Given the description of an element on the screen output the (x, y) to click on. 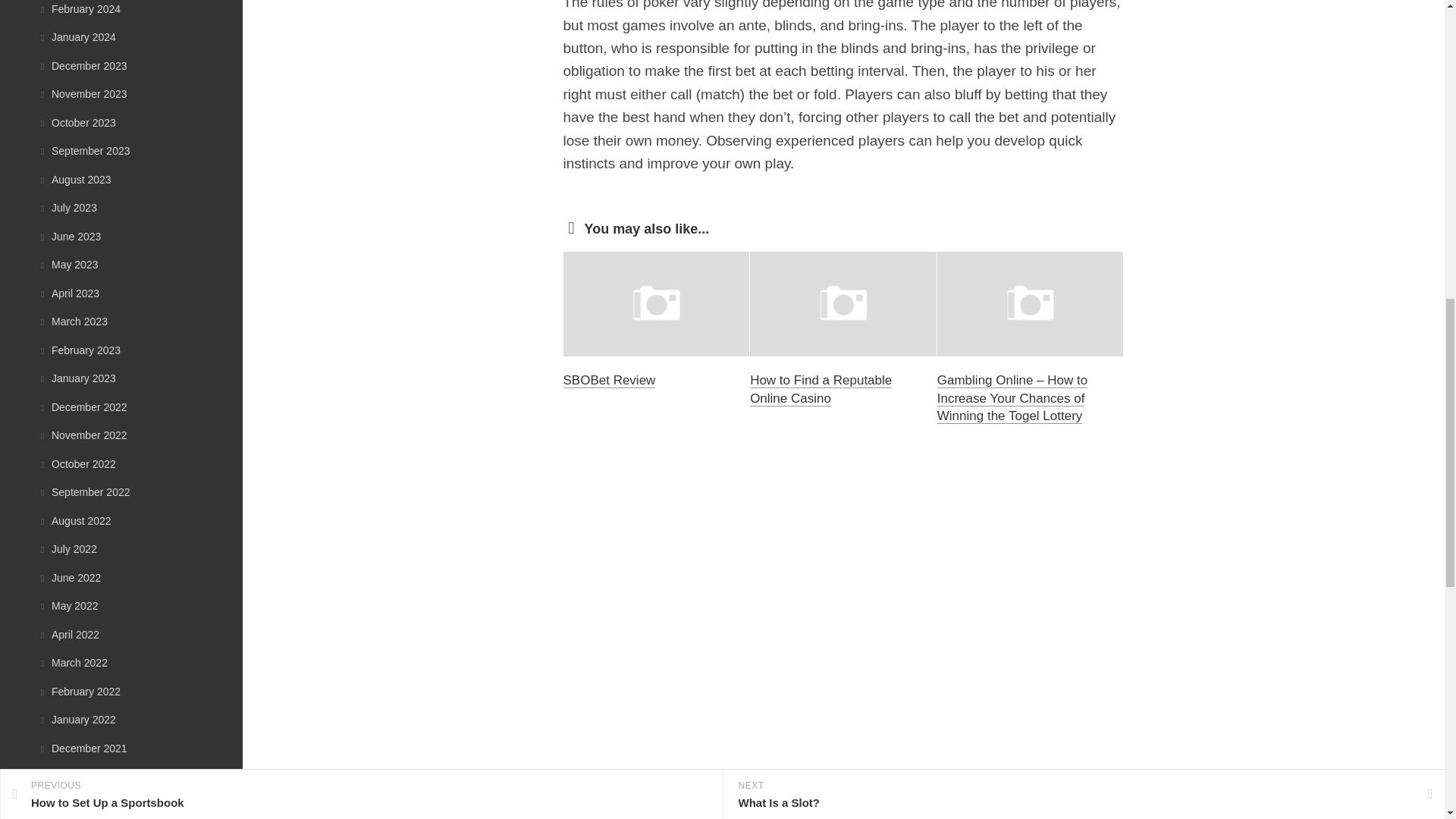
November 2023 (82, 93)
August 2023 (74, 178)
March 2023 (72, 321)
September 2023 (84, 150)
June 2023 (68, 236)
December 2023 (82, 64)
July 2023 (67, 207)
SBOBet Review (608, 380)
January 2024 (76, 37)
October 2023 (76, 122)
February 2023 (78, 349)
April 2023 (68, 292)
May 2023 (67, 264)
January 2023 (76, 378)
How to Find a Reputable Online Casino (820, 389)
